Given the description of an element on the screen output the (x, y) to click on. 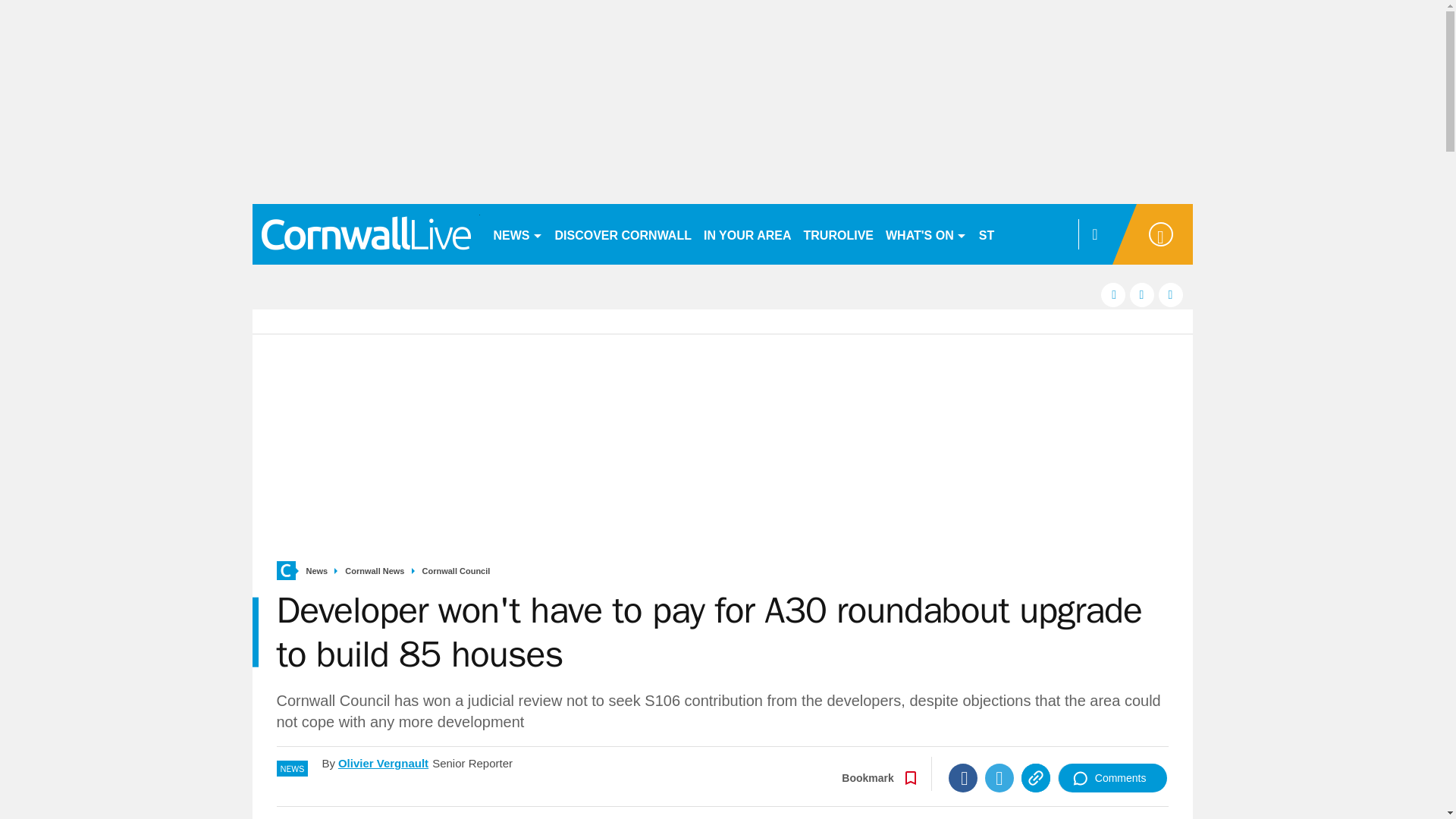
Facebook (962, 777)
TRUROLIVE (838, 233)
NEWS (517, 233)
DISCOVER CORNWALL (622, 233)
twitter (1141, 294)
facebook (1112, 294)
instagram (1170, 294)
ST AUSTELL (1015, 233)
Twitter (999, 777)
WHAT'S ON (925, 233)
